Given the description of an element on the screen output the (x, y) to click on. 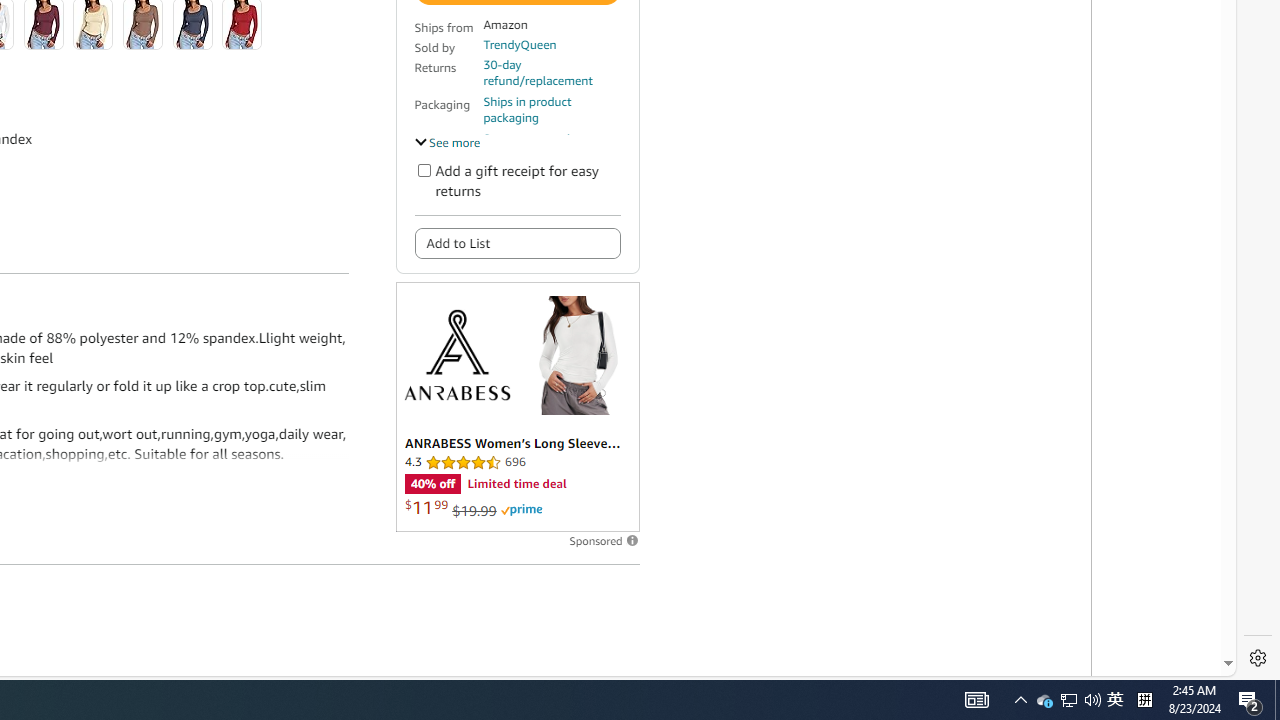
Sponsored ad (516, 406)
Add to List (516, 242)
30-day refund/replacement (551, 72)
Ships in product packaging (551, 109)
Logo (456, 354)
Secure transaction (533, 138)
Add a gift receipt for easy returns (424, 170)
Prime (521, 509)
TrendyQueen (519, 43)
